Given the description of an element on the screen output the (x, y) to click on. 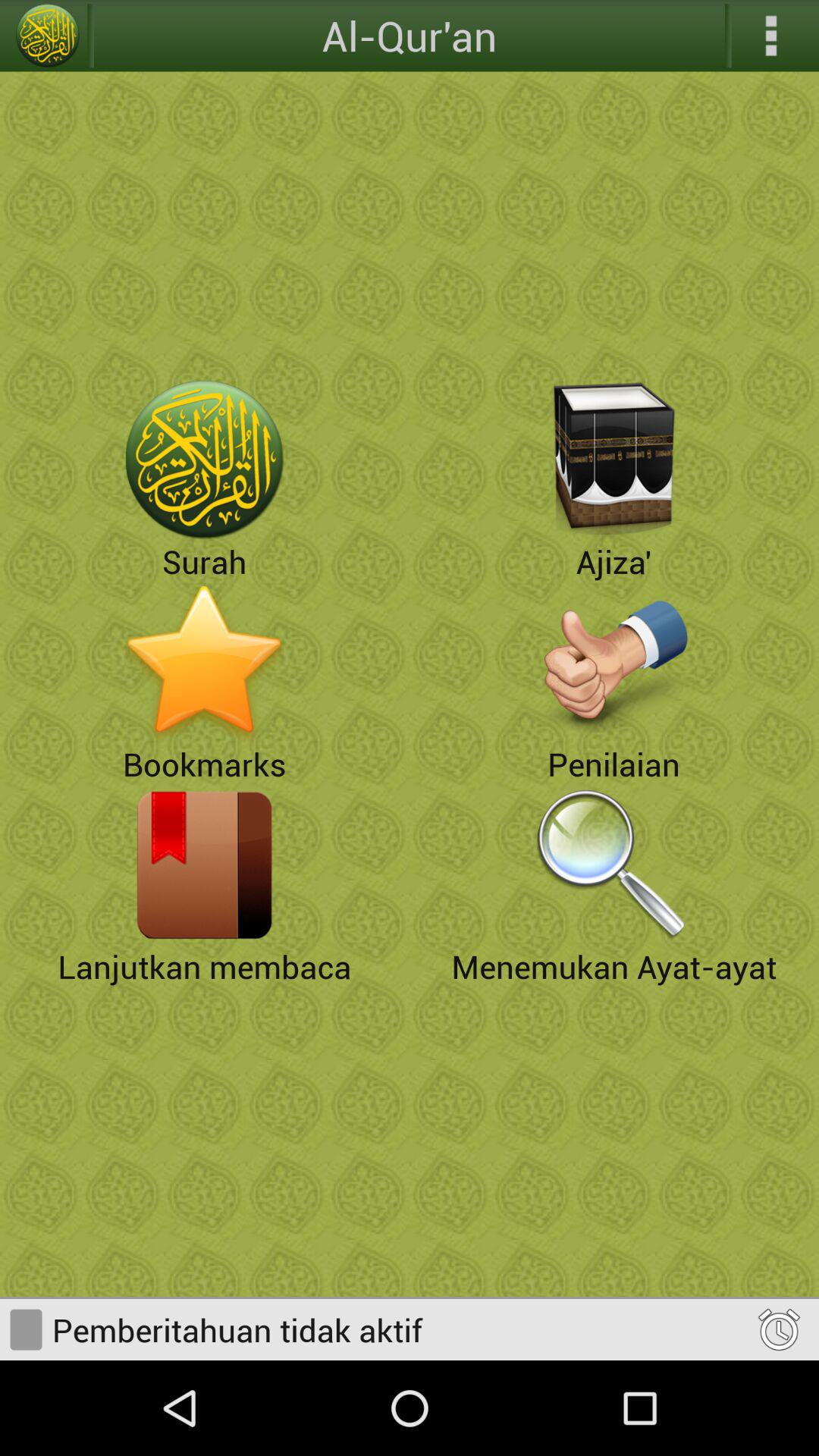
ajiza (613, 459)
